Given the description of an element on the screen output the (x, y) to click on. 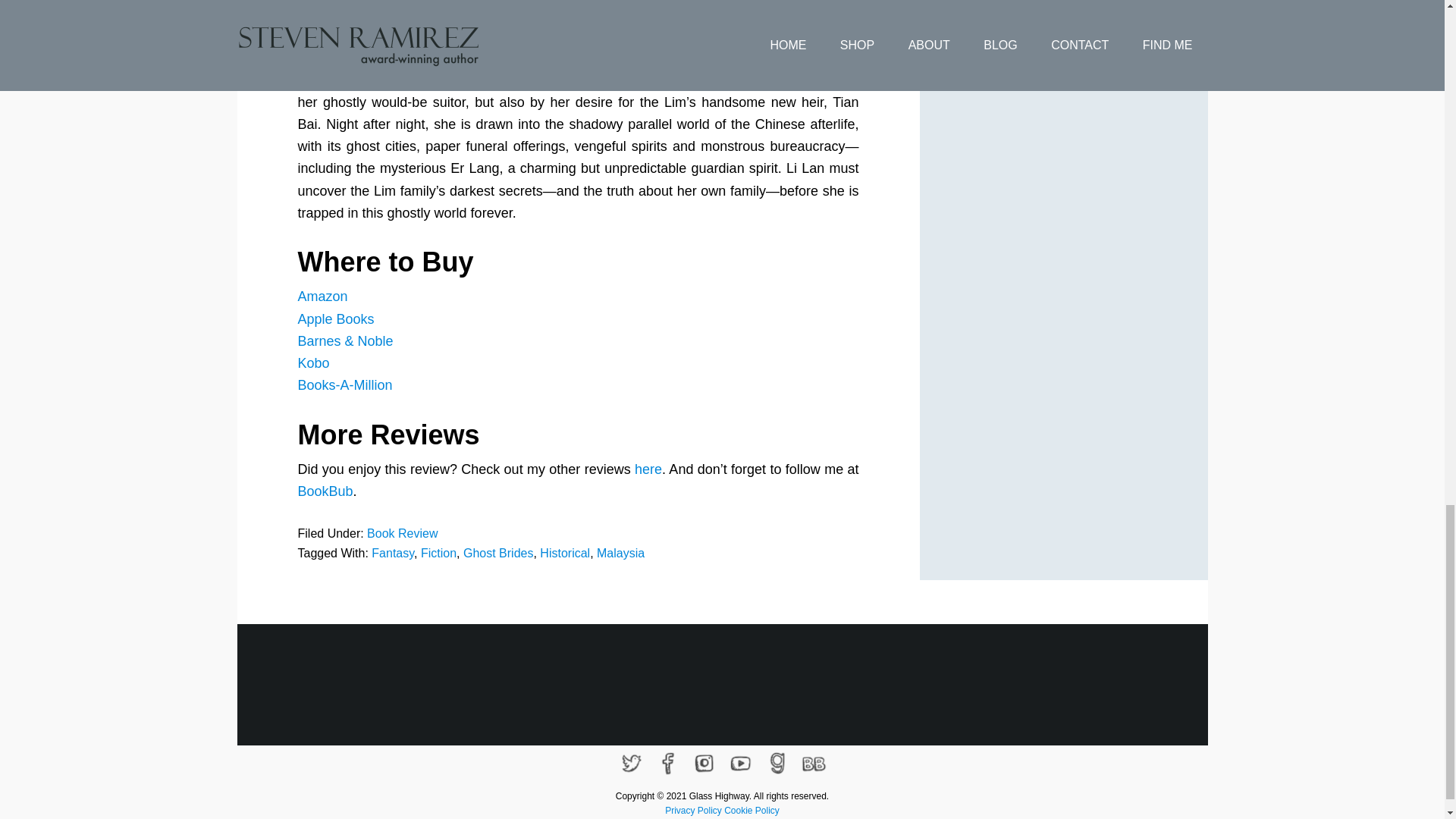
Malaysia (620, 553)
Fantasy (392, 553)
Steven Ramirez on Facebook (667, 763)
Amazon (322, 296)
Steven Ramirez on YouTube (740, 763)
Ghost Brides (497, 553)
Book Review (402, 533)
Books-A-Million (344, 385)
Steven Ramirez on Goodreads (776, 763)
Apple Books (335, 319)
Fiction (438, 553)
Historical (564, 553)
Steven Ramirez on Instagram (703, 763)
Cookie Policy  (750, 810)
BookBub (324, 491)
